Given the description of an element on the screen output the (x, y) to click on. 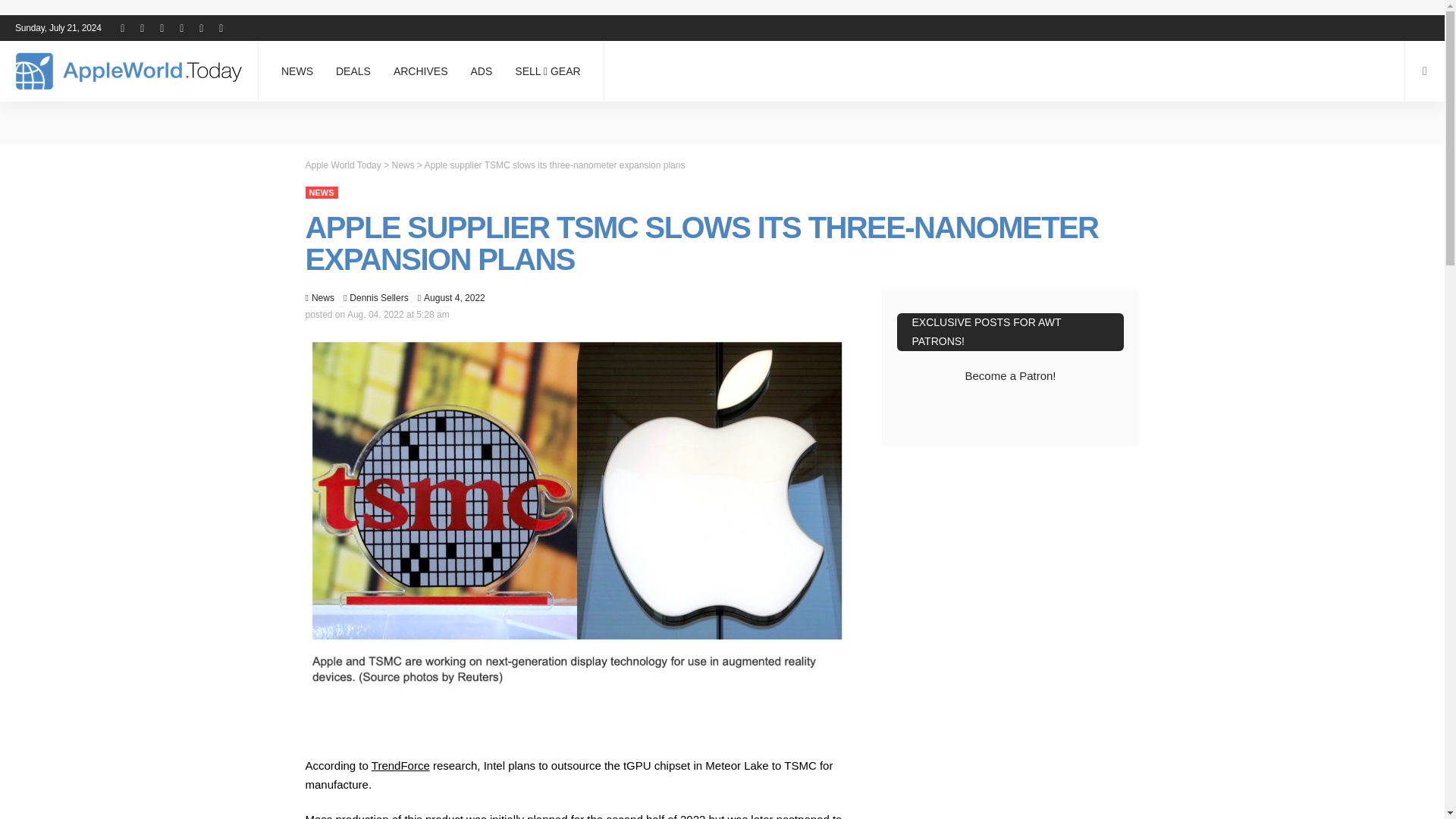
Apple World Today (128, 70)
News (320, 192)
Go to Apple World Today. (342, 163)
Go to the News Category archives. (402, 163)
News (322, 297)
